Given the description of an element on the screen output the (x, y) to click on. 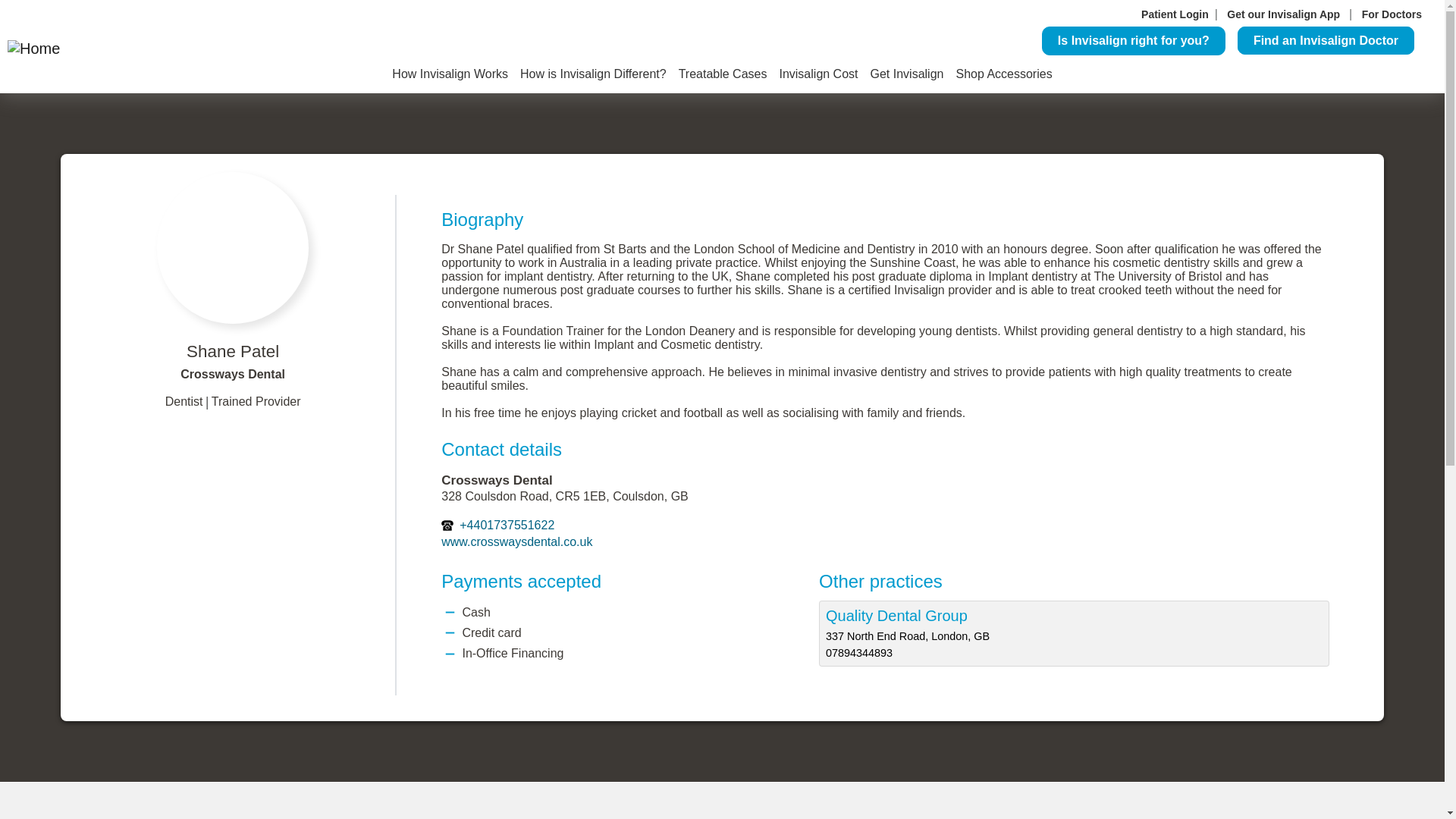
For Doctors (1391, 14)
Shop Accessories (1003, 74)
Patient Login (1174, 14)
Invisalign Cost (817, 74)
Find an Invisalign Doctor (1325, 40)
Is Invisalign right for you? (1133, 40)
Get our Invisalign App (1284, 14)
